Given the description of an element on the screen output the (x, y) to click on. 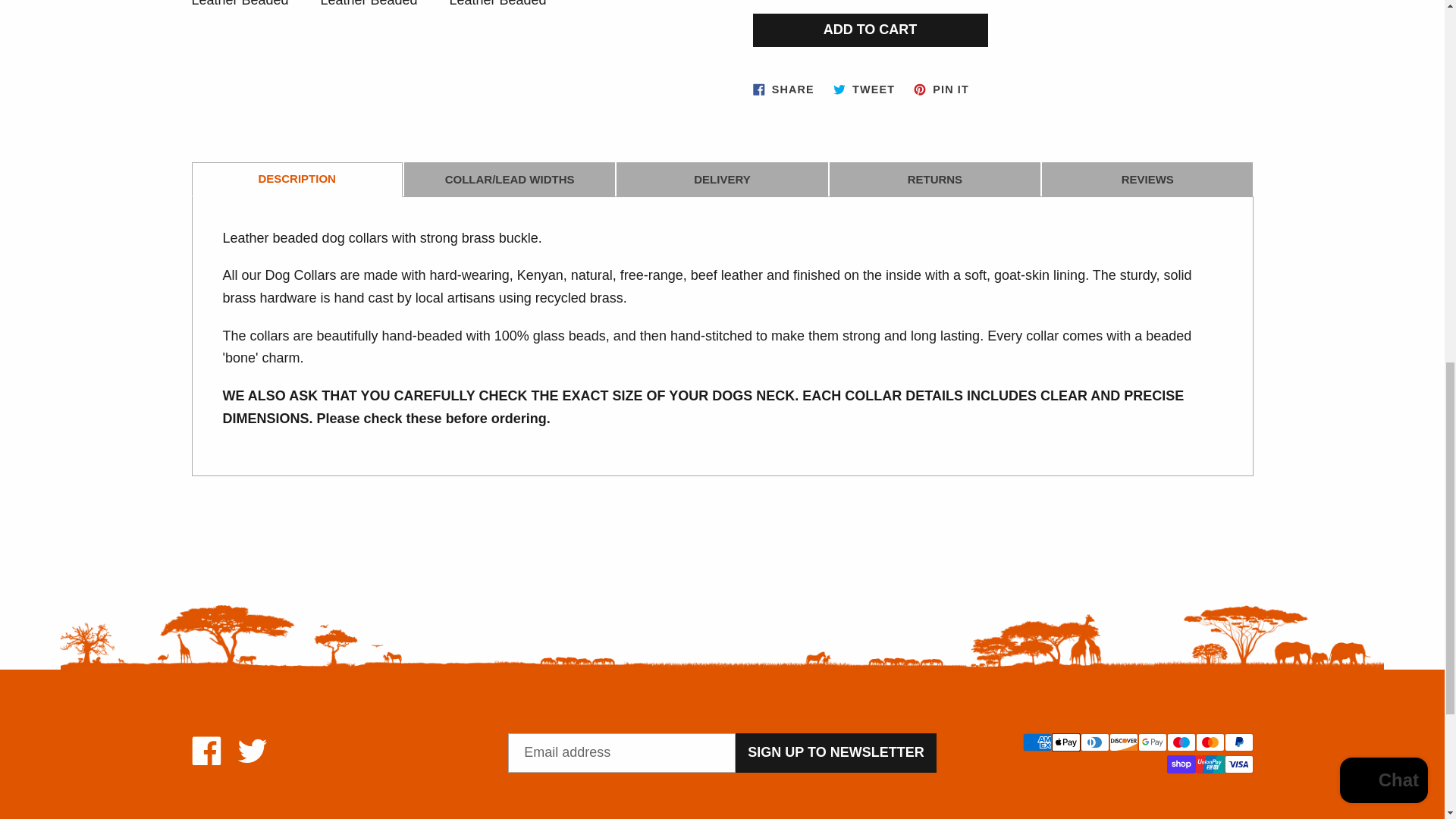
Facebook (863, 88)
Twitter (205, 750)
ADD TO CART (940, 88)
